Given the description of an element on the screen output the (x, y) to click on. 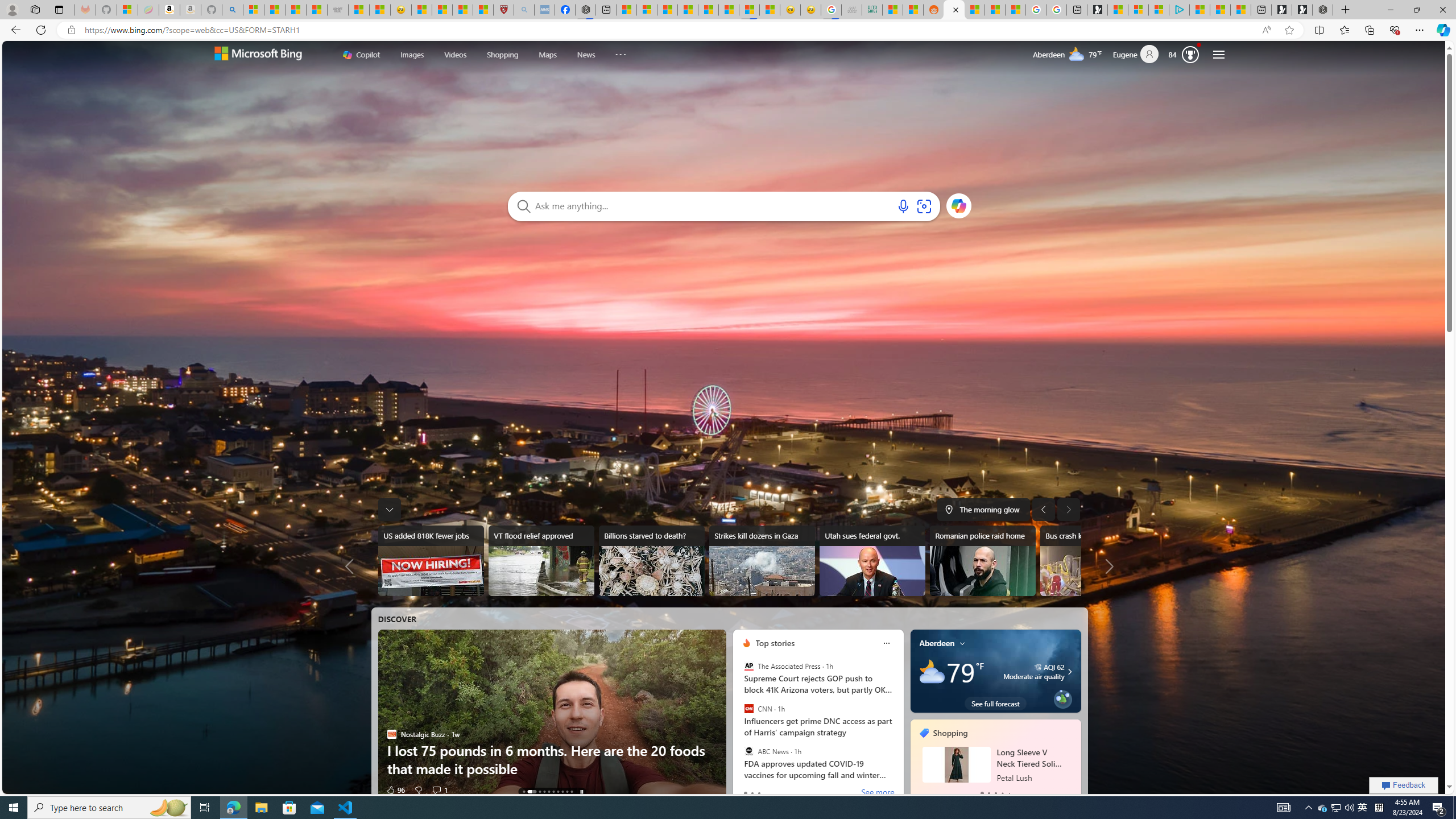
The morning glow (982, 508)
AutomationID: tab-2 (539, 791)
Shopping (502, 54)
previous (915, 760)
AutomationID: tab-1 (531, 791)
Romanian police raid home (981, 560)
